Given the description of an element on the screen output the (x, y) to click on. 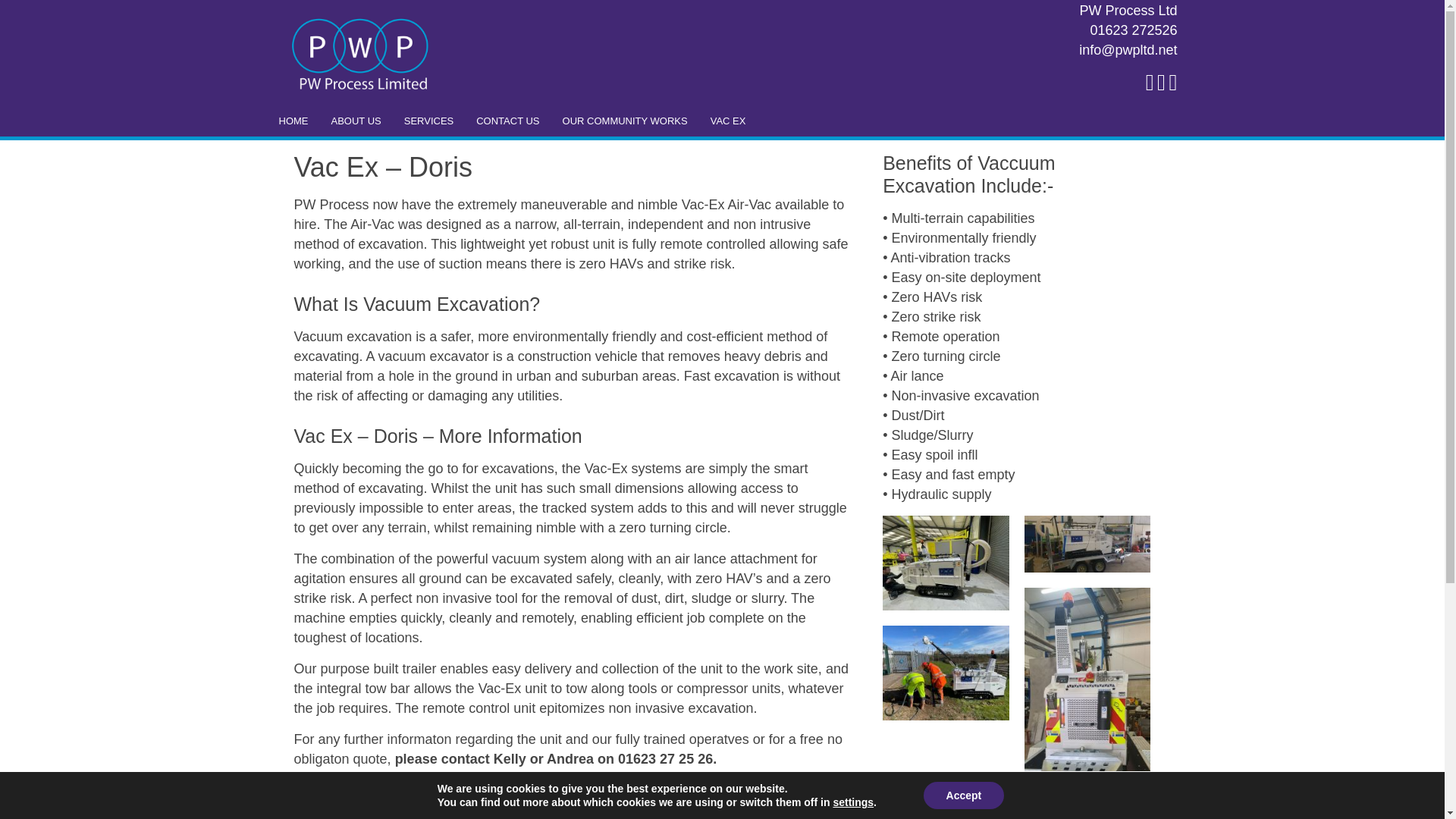
SERVICES (429, 121)
CONTACT US (507, 121)
HOME (292, 121)
OUR COMMUNITY WORKS (624, 121)
PWP Ltd (361, 52)
VAC EX (727, 121)
ABOUT US (356, 121)
click here (739, 789)
